Given the description of an element on the screen output the (x, y) to click on. 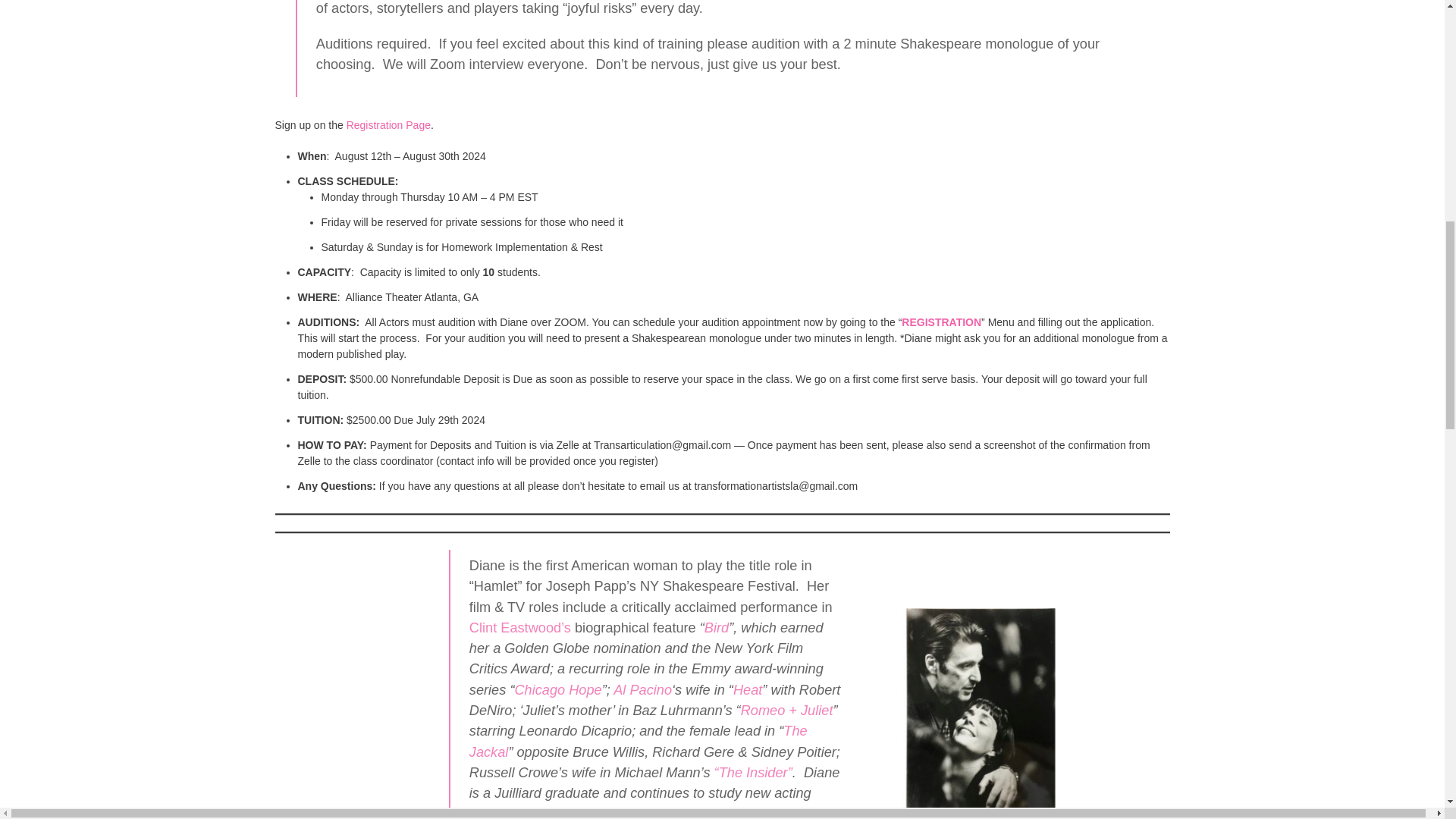
Bird (716, 627)
Registration Page (388, 124)
Chicago Hope (557, 689)
REGISTRATION (941, 322)
Al Pacino (641, 689)
The Jackal (638, 741)
Heat (747, 689)
